Given the description of an element on the screen output the (x, y) to click on. 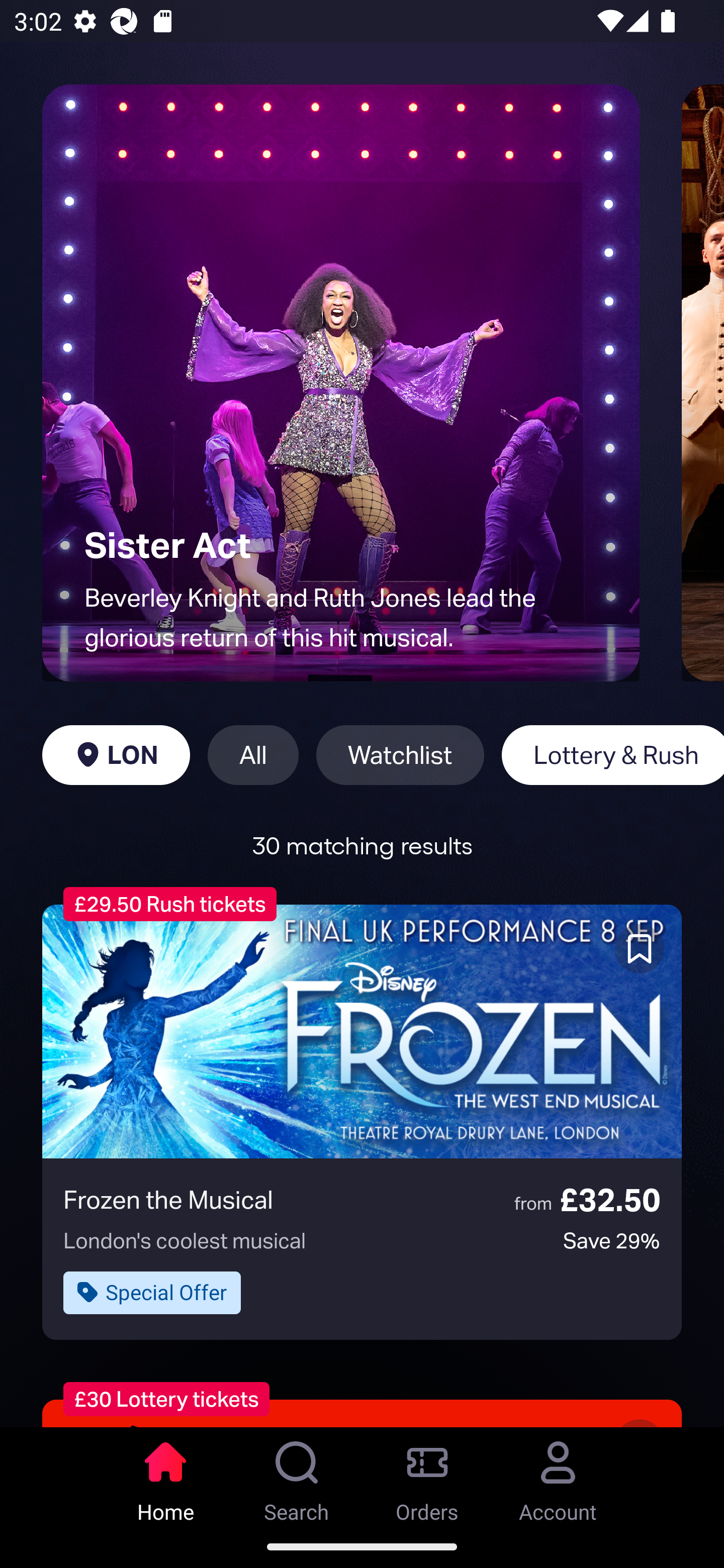
LON (115, 754)
All (252, 754)
Watchlist (400, 754)
Lottery & Rush (612, 754)
Search (296, 1475)
Orders (427, 1475)
Account (558, 1475)
